Given the description of an element on the screen output the (x, y) to click on. 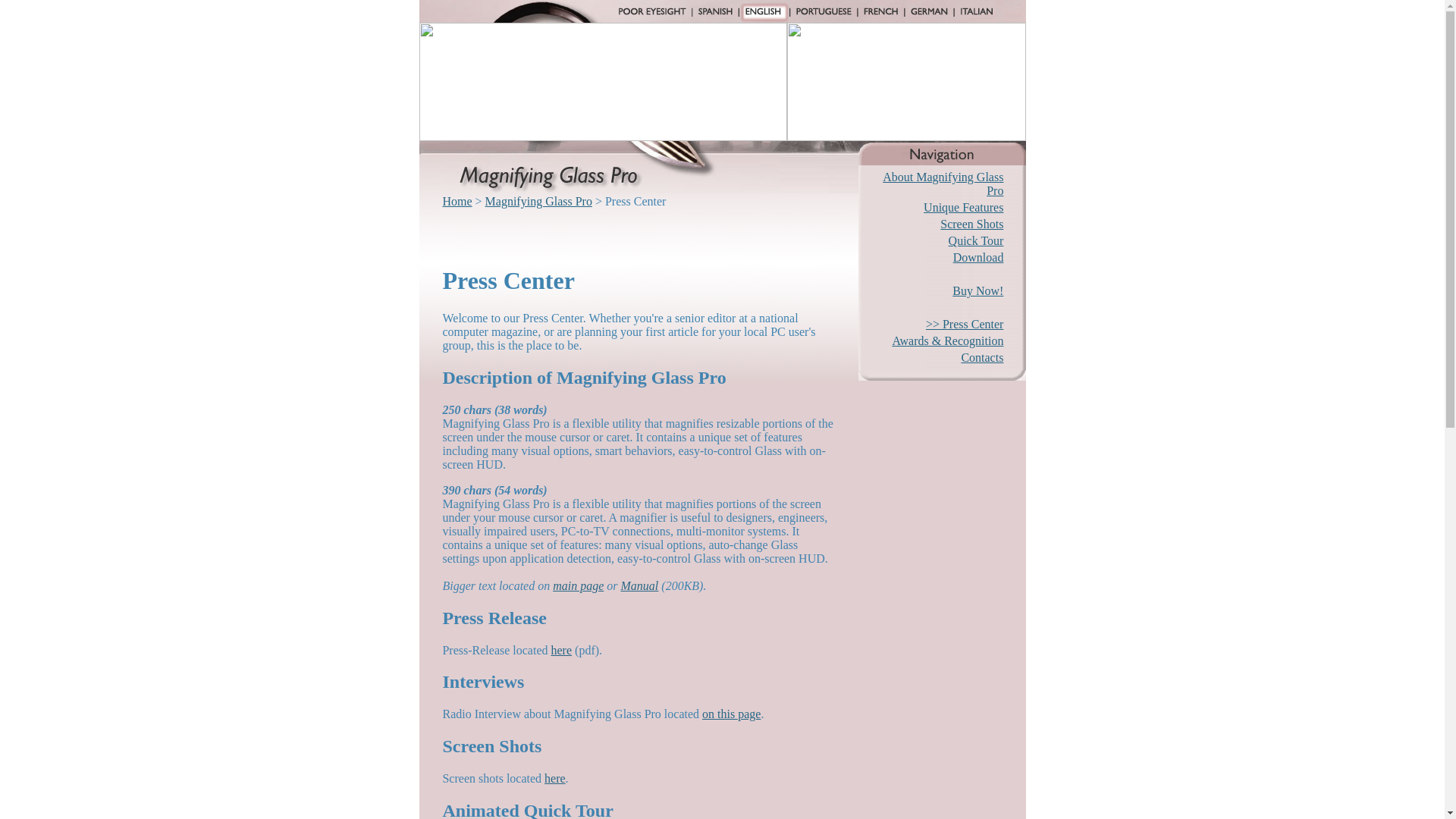
Quick Tour (976, 240)
main page (578, 585)
on this page (730, 713)
Magnifying Glass Pro (538, 201)
here (561, 649)
Unique Features (963, 206)
Buy Now! (977, 290)
Manual (640, 585)
Download (978, 256)
Screen Shots (971, 223)
